Given the description of an element on the screen output the (x, y) to click on. 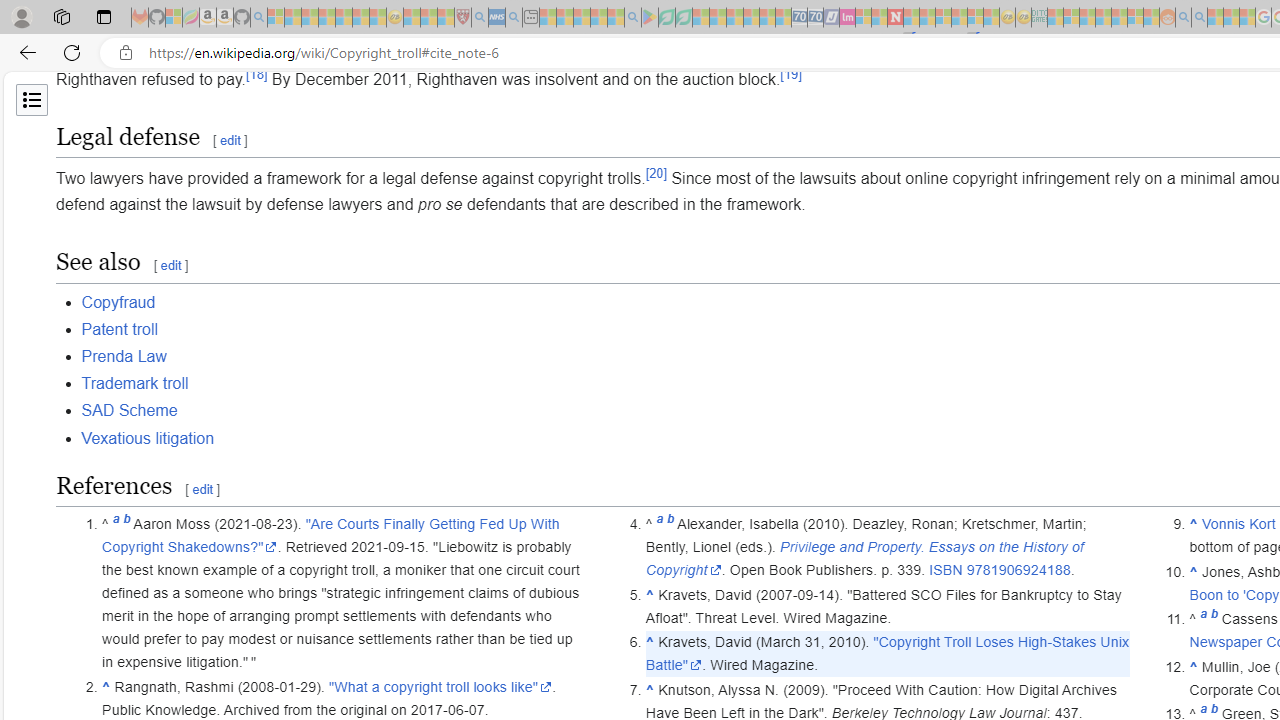
google - Search - Sleeping (632, 17)
